Given the description of an element on the screen output the (x, y) to click on. 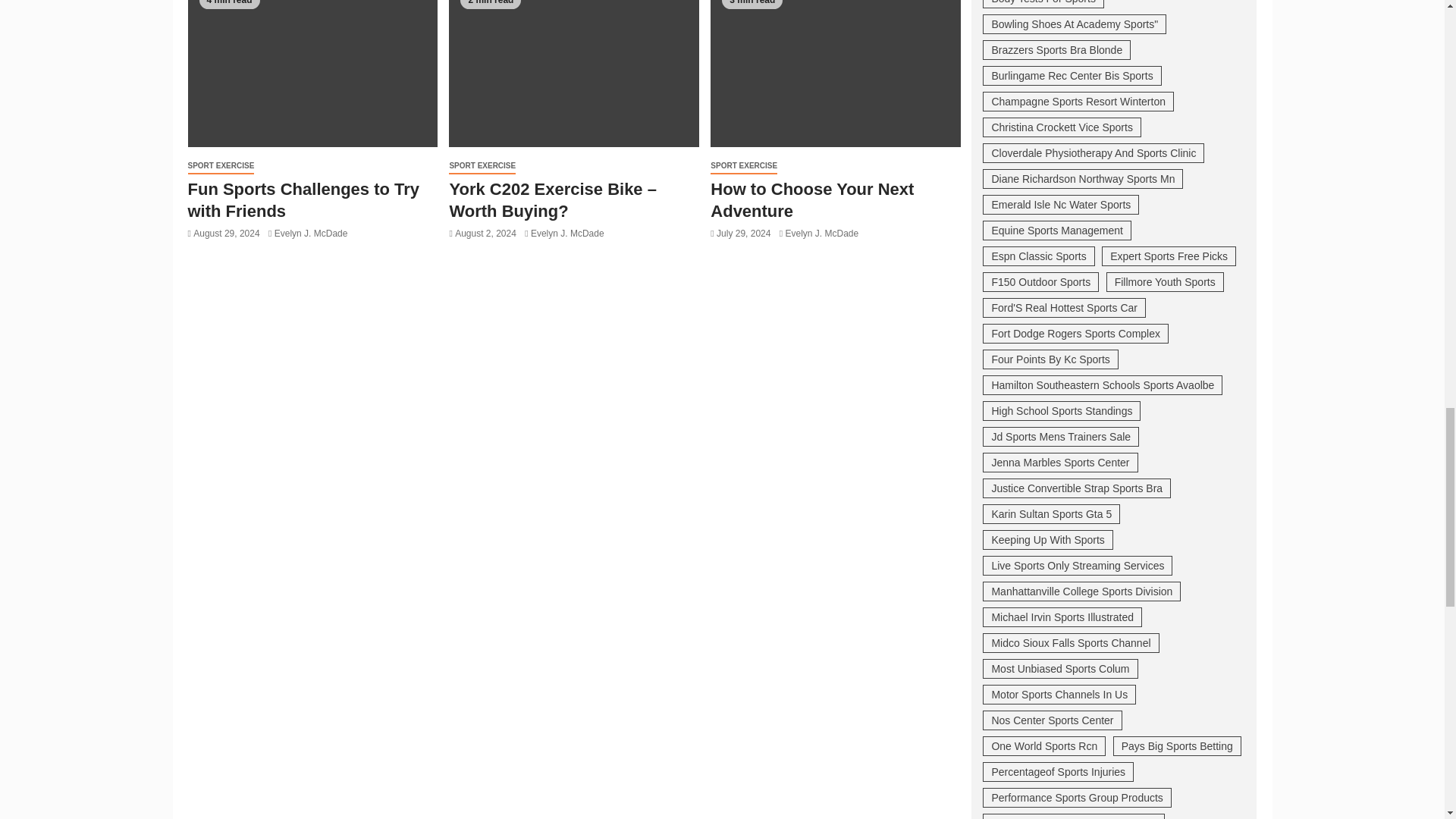
SPORT EXERCISE (481, 166)
Fun Sports Challenges to Try with Friends (312, 73)
How to Choose Your Next Adventure (835, 73)
Evelyn J. McDade (567, 233)
SPORT EXERCISE (220, 166)
Evelyn J. McDade (311, 233)
Fun Sports Challenges to Try with Friends (303, 199)
